Given the description of an element on the screen output the (x, y) to click on. 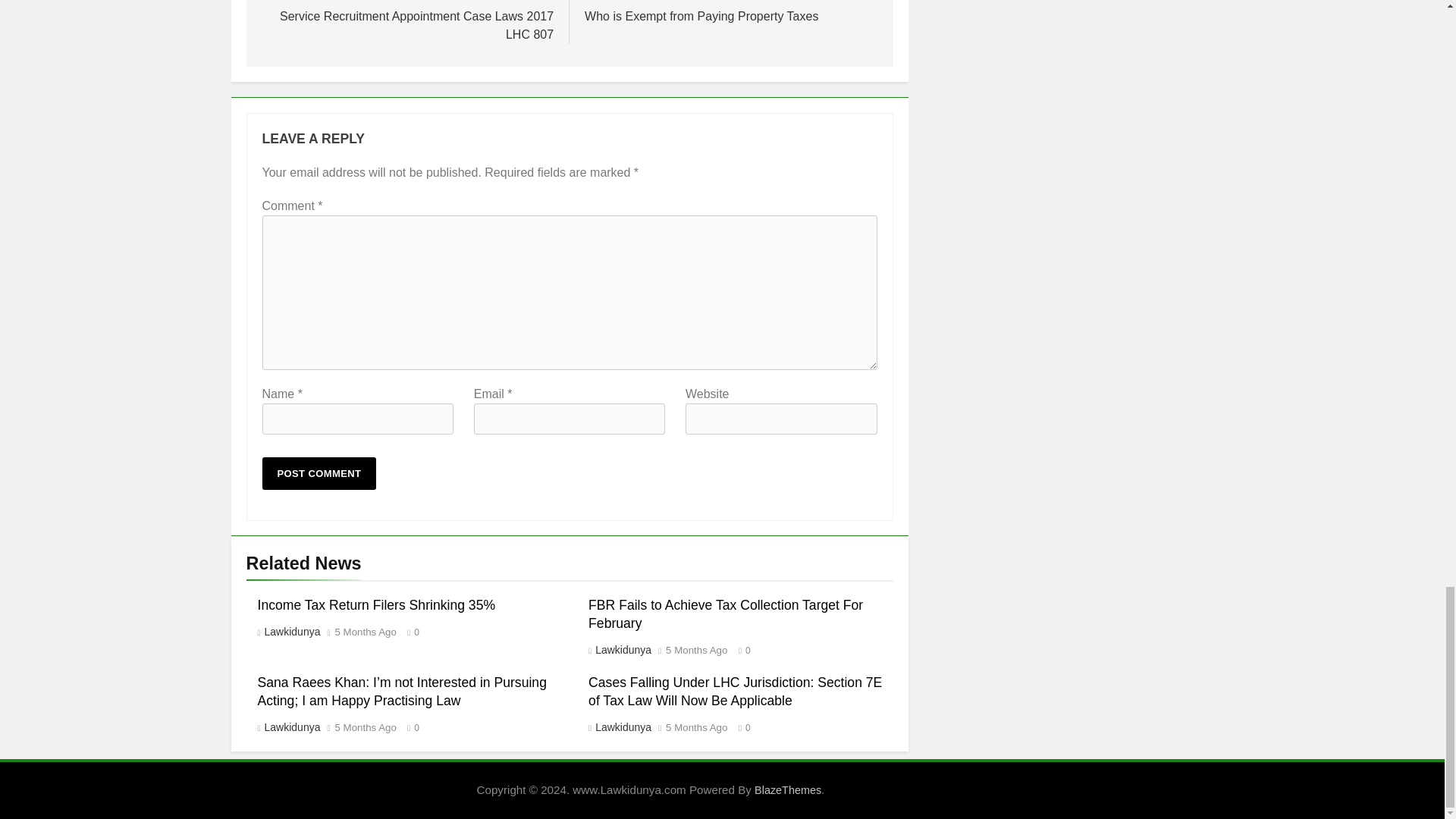
Post Comment (319, 473)
